Given the description of an element on the screen output the (x, y) to click on. 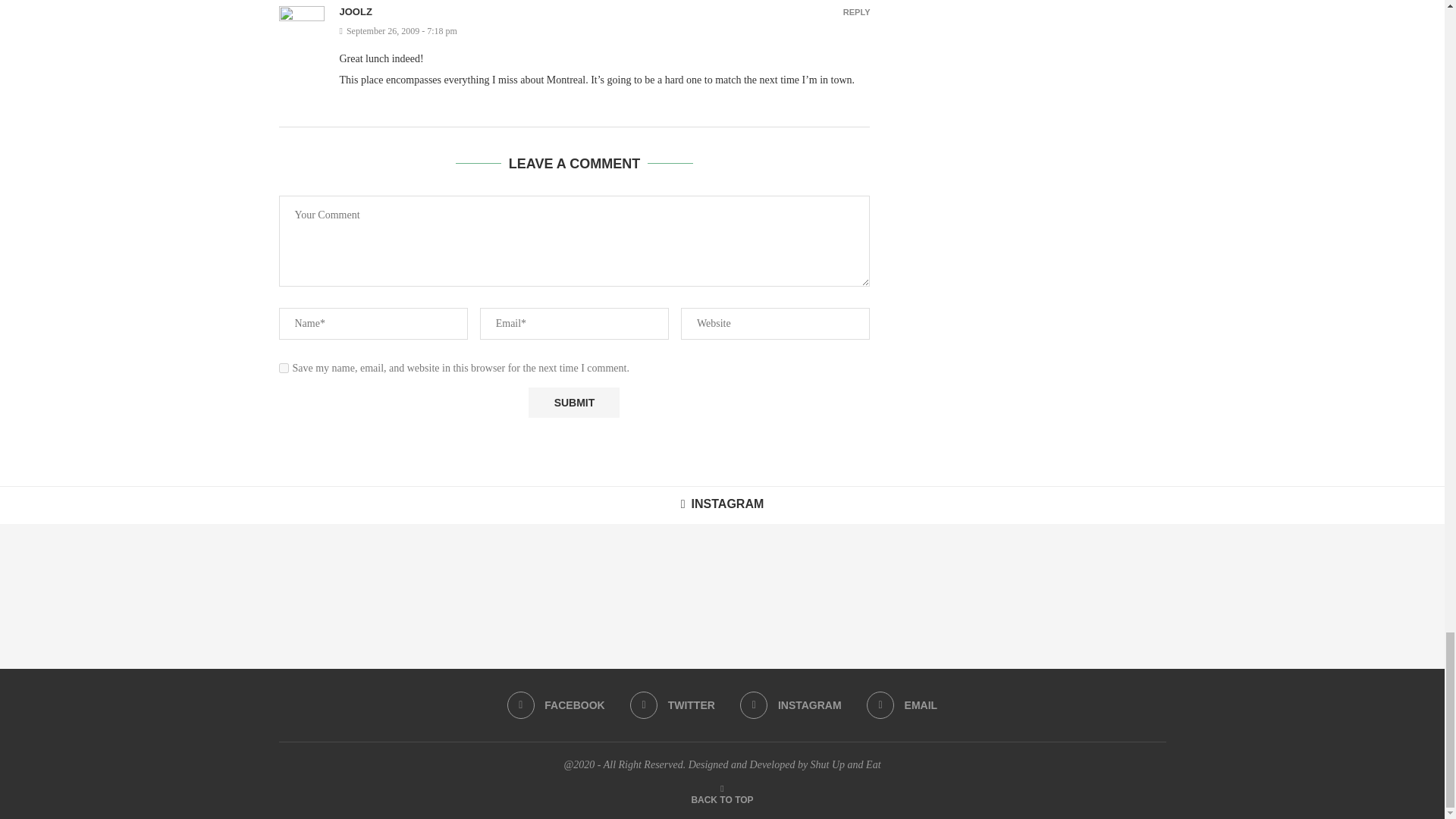
yes (283, 368)
Submit (574, 402)
